Given the description of an element on the screen output the (x, y) to click on. 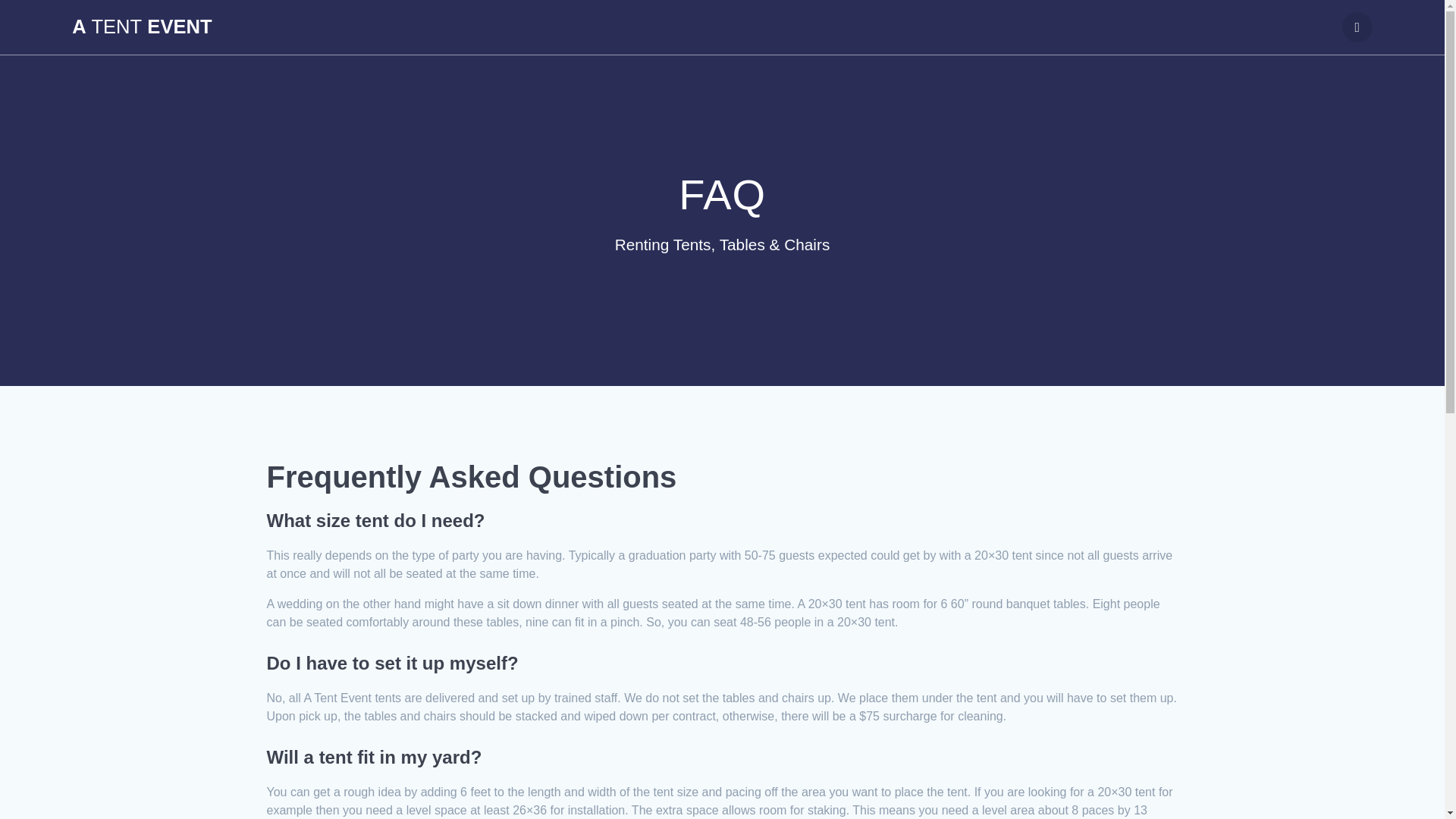
A TENT EVENT (141, 26)
